Given the description of an element on the screen output the (x, y) to click on. 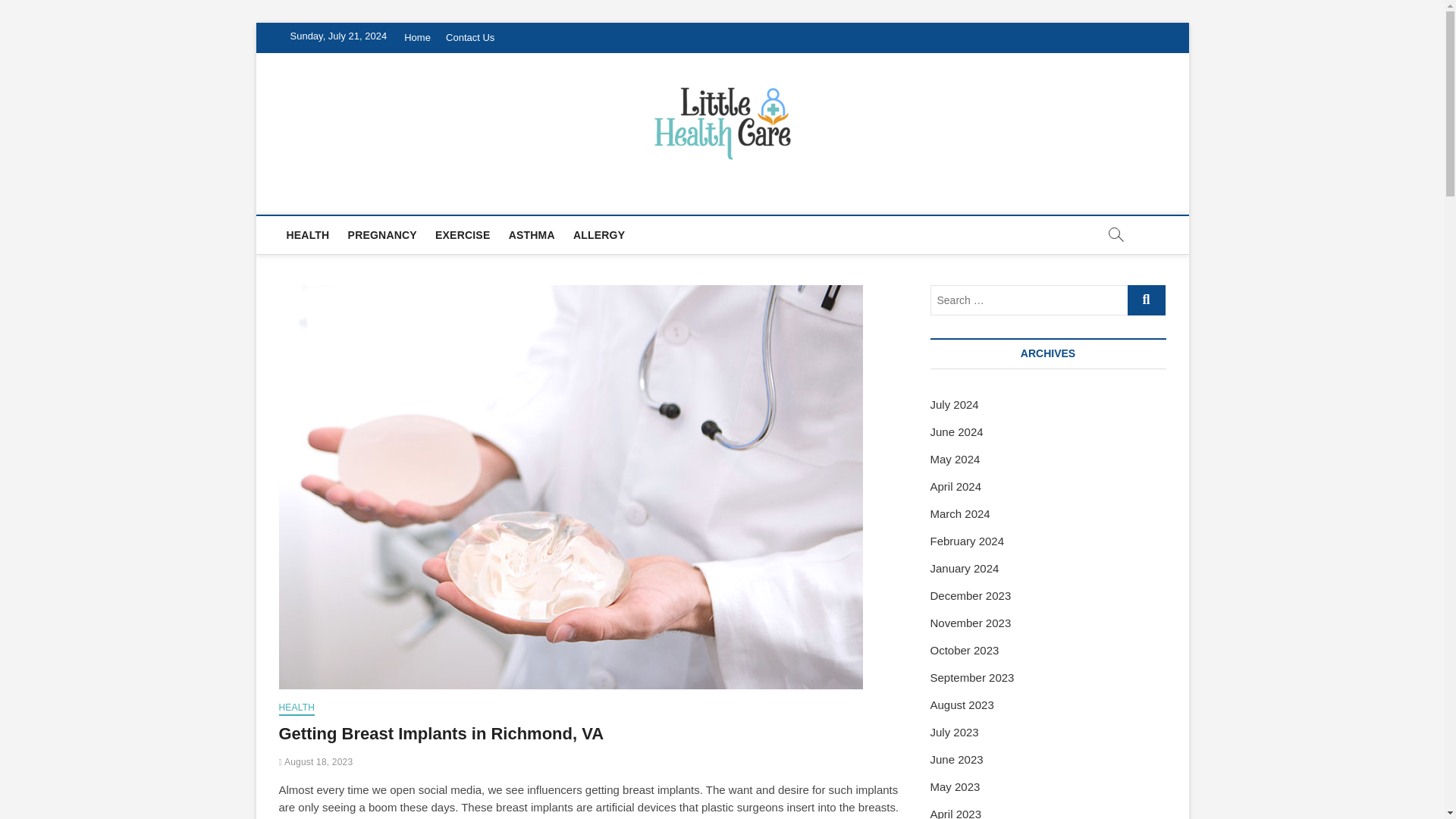
October 2023 (964, 649)
Little Health Care (391, 196)
July 2024 (954, 404)
July 2023 (954, 731)
September 2023 (971, 676)
April 2024 (955, 486)
August 18, 2023 (316, 761)
EXERCISE (462, 234)
August 2023 (961, 704)
January 2024 (964, 567)
Contact Us (469, 37)
ALLERGY (598, 234)
Little Health Care (391, 196)
May 2023 (954, 786)
